Given the description of an element on the screen output the (x, y) to click on. 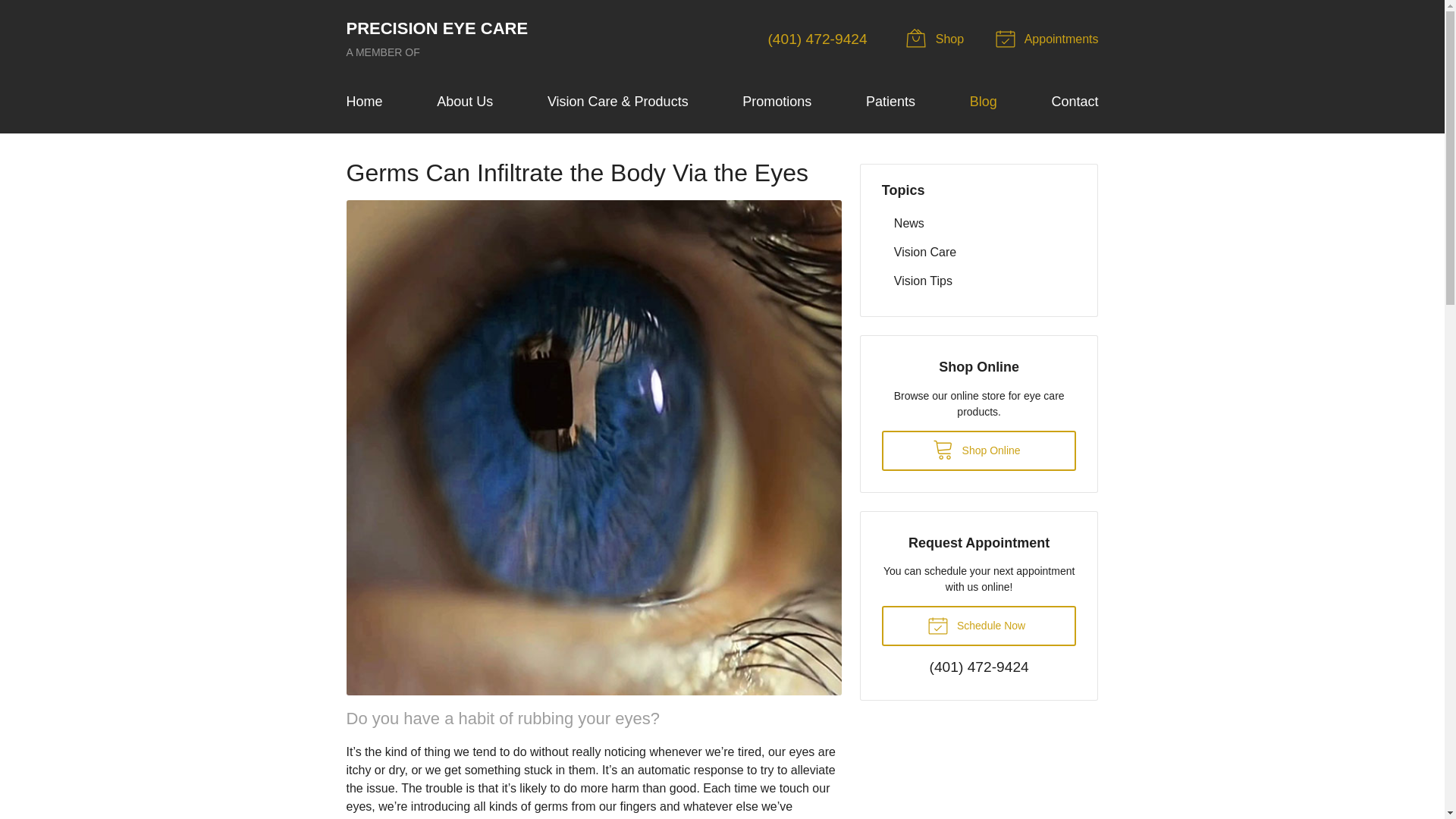
Promotions (776, 101)
About Us (464, 101)
Home (445, 39)
Request Appointment (363, 101)
Call practice (1048, 39)
Shop Online (816, 38)
Schedule Now (937, 39)
Shop Online (979, 626)
Shop (979, 450)
Patients (937, 39)
Contact (890, 101)
Precision Eye Care (1074, 101)
Appointments (445, 39)
Call practice (1048, 39)
